Given the description of an element on the screen output the (x, y) to click on. 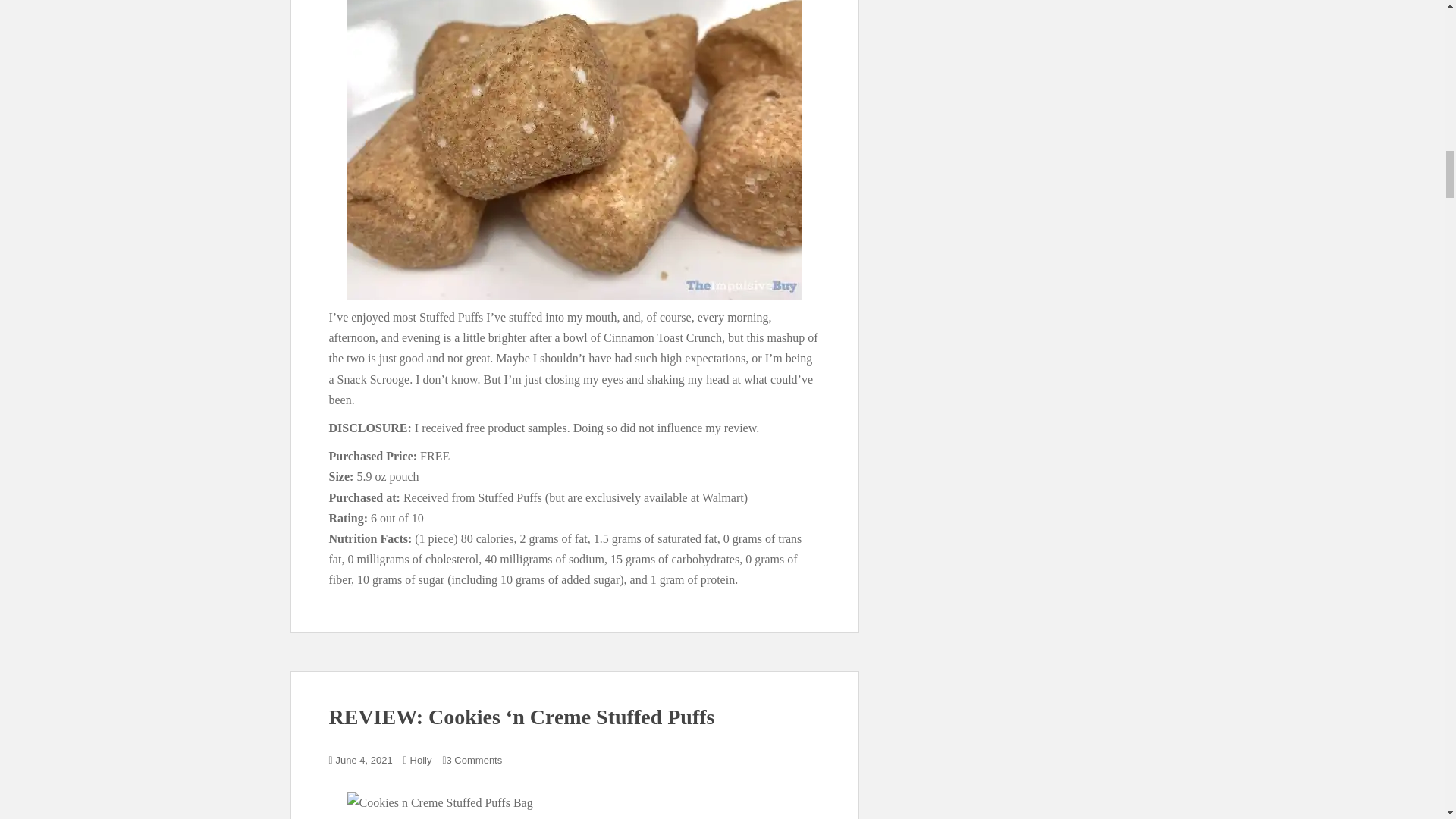
Holly (421, 759)
3 Comments (474, 759)
June 4, 2021 (364, 759)
candcstuffedpuffs1.jpeg (574, 805)
